Given the description of an element on the screen output the (x, y) to click on. 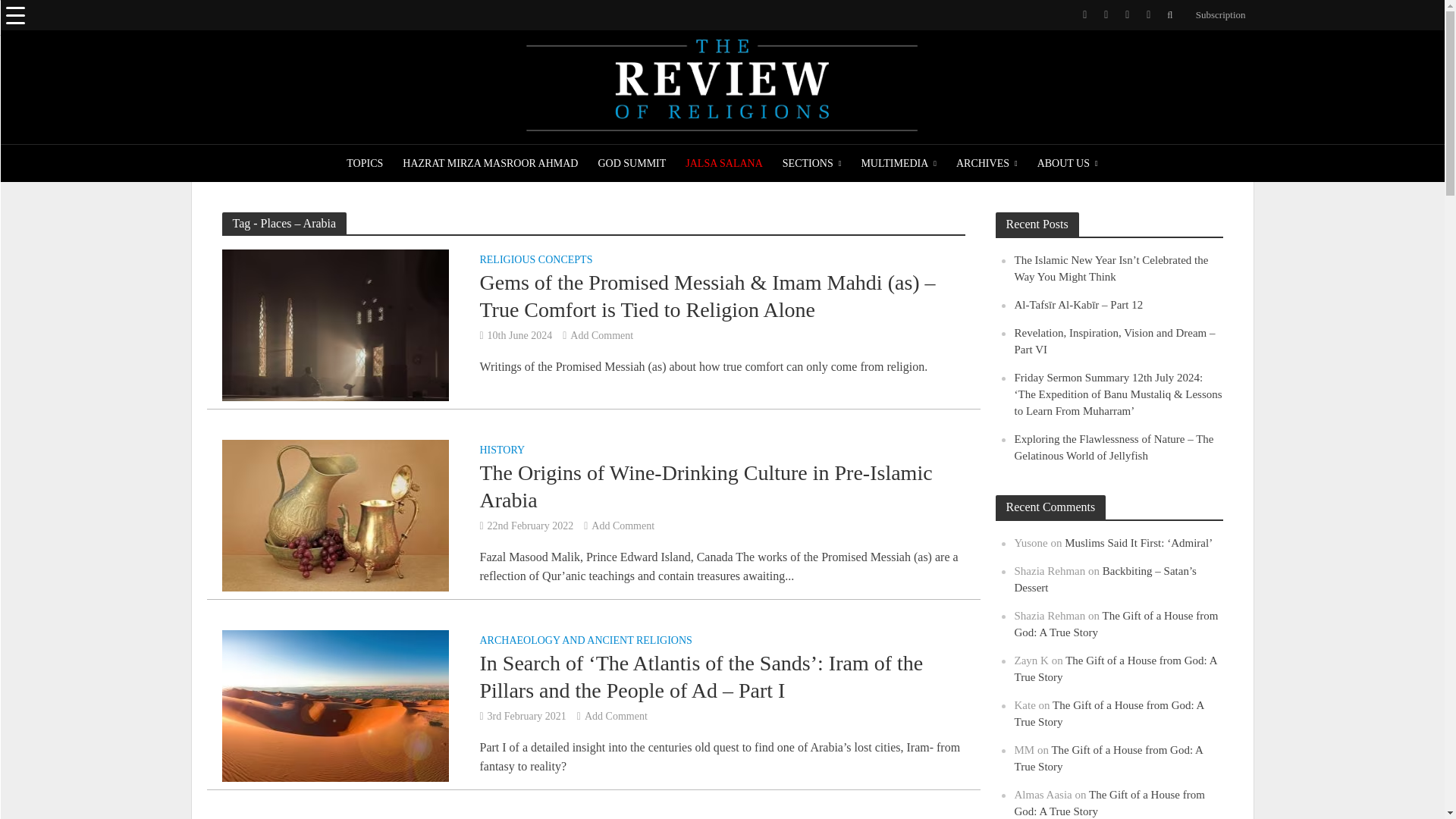
SECTIONS (812, 163)
HAZRAT MIRZA MASROOR AHMAD (490, 163)
ABOUT US (1067, 163)
TOPICS (364, 163)
The Origins of Wine-Drinking Culture in Pre-Islamic Arabia (334, 513)
ARCHIVES (986, 163)
Subscription (1217, 15)
JALSA SALANA (724, 163)
MULTIMEDIA (898, 163)
GOD SUMMIT (631, 163)
